Given the description of an element on the screen output the (x, y) to click on. 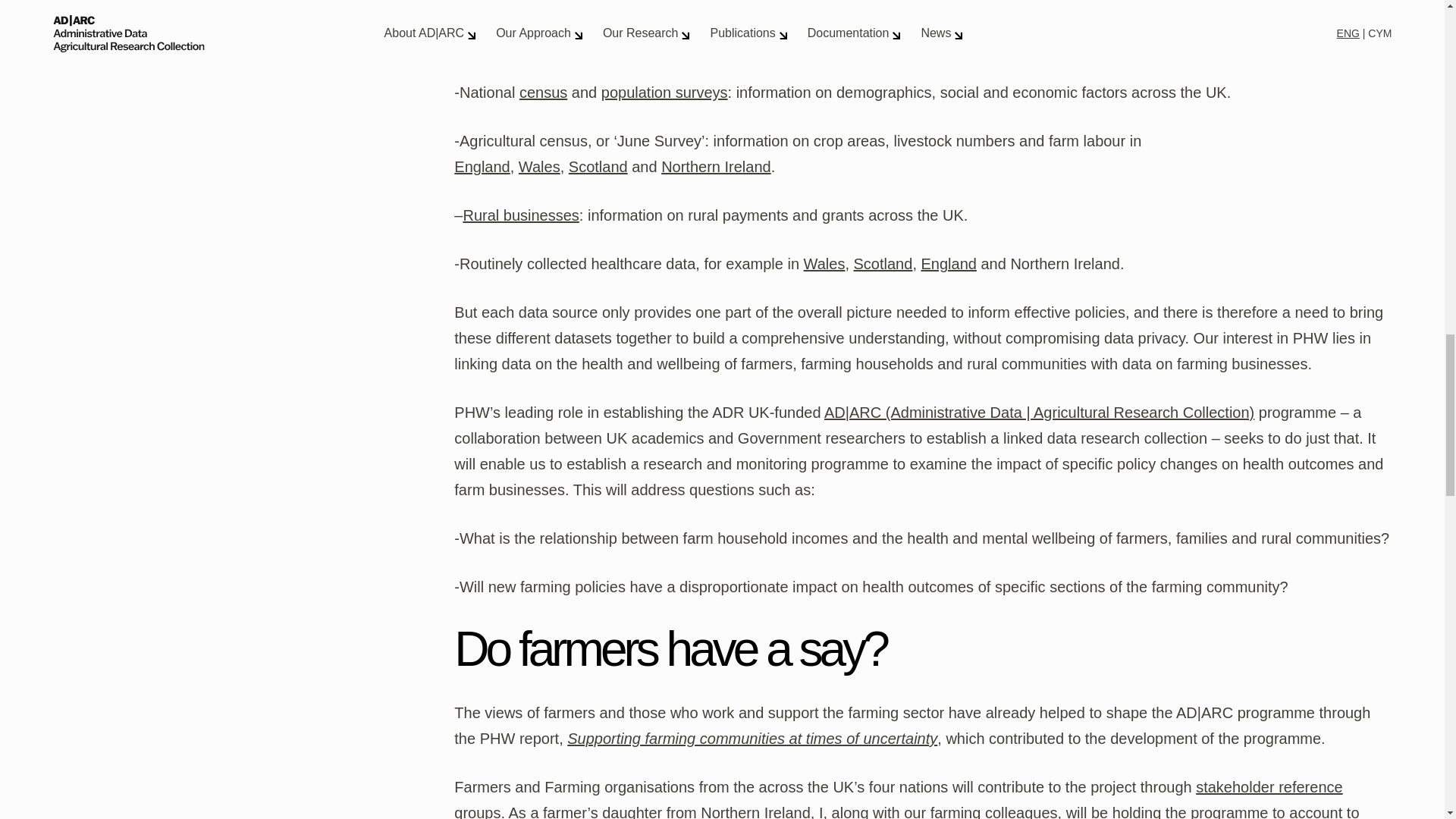
census (543, 92)
England (947, 263)
population surveys (664, 92)
Northern Ireland (716, 166)
Rural businesses (520, 215)
England (481, 166)
Scotland (598, 166)
Wales (539, 166)
Scotland (882, 263)
Wales (824, 263)
